Given the description of an element on the screen output the (x, y) to click on. 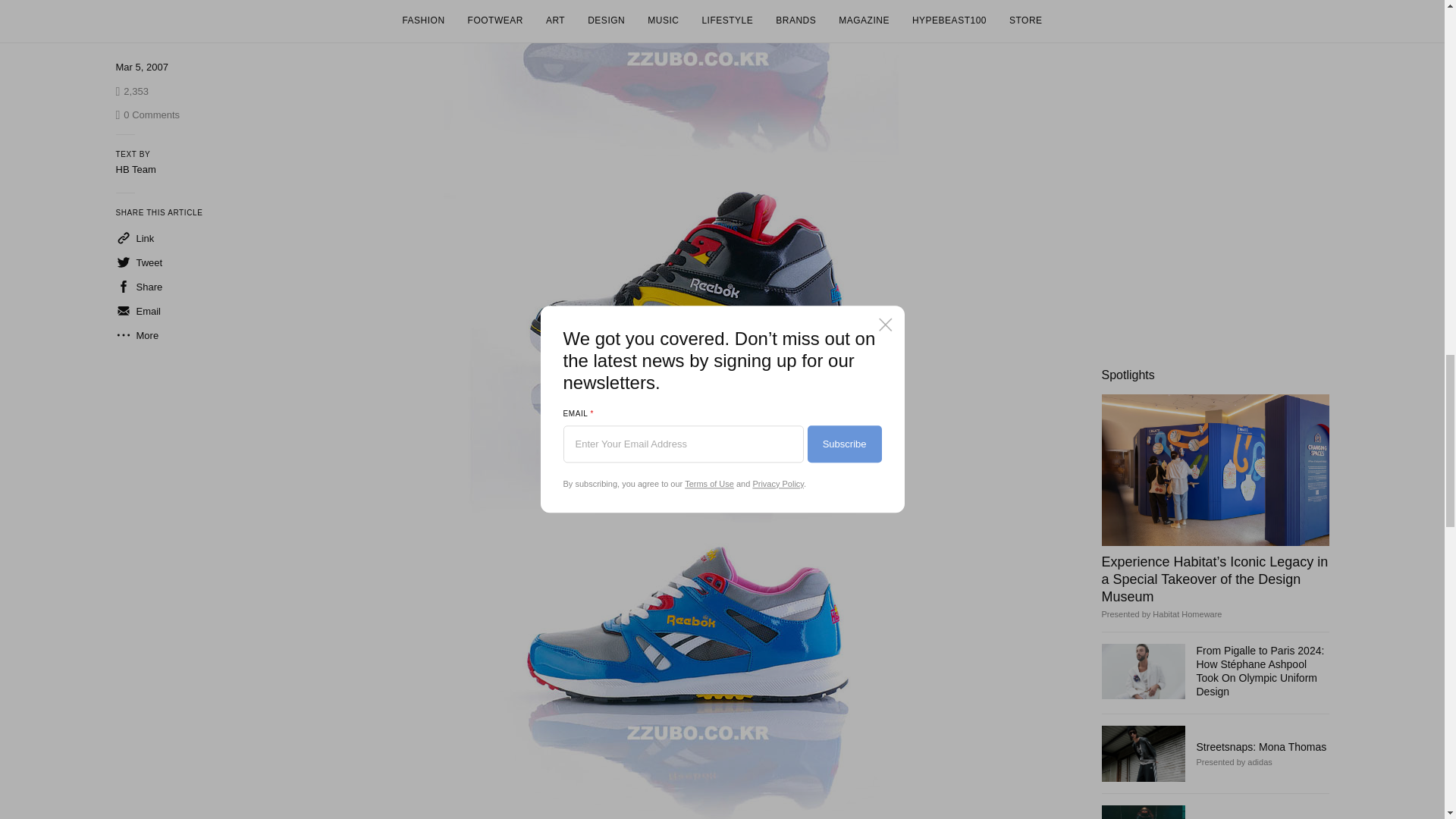
Streetsnaps: Mona Thomas (1142, 753)
Streetsnaps: Mona Thomas (1261, 746)
